Given the description of an element on the screen output the (x, y) to click on. 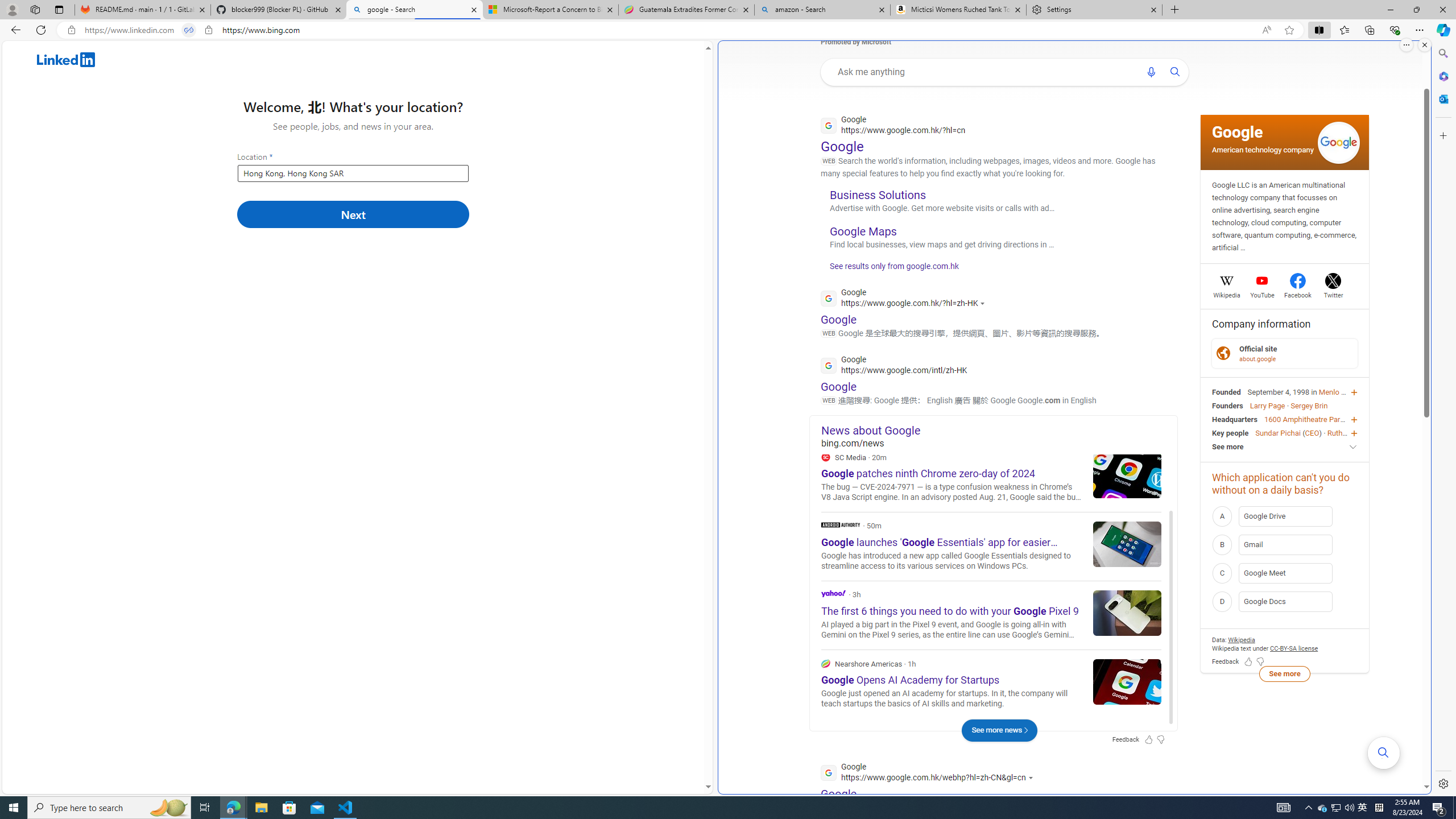
amazon - Search (822, 9)
bing.com/news (999, 442)
Headquarters (1234, 418)
Business Solutions (877, 194)
Android Authority (840, 524)
See more images of Google (1338, 142)
